Given the description of an element on the screen output the (x, y) to click on. 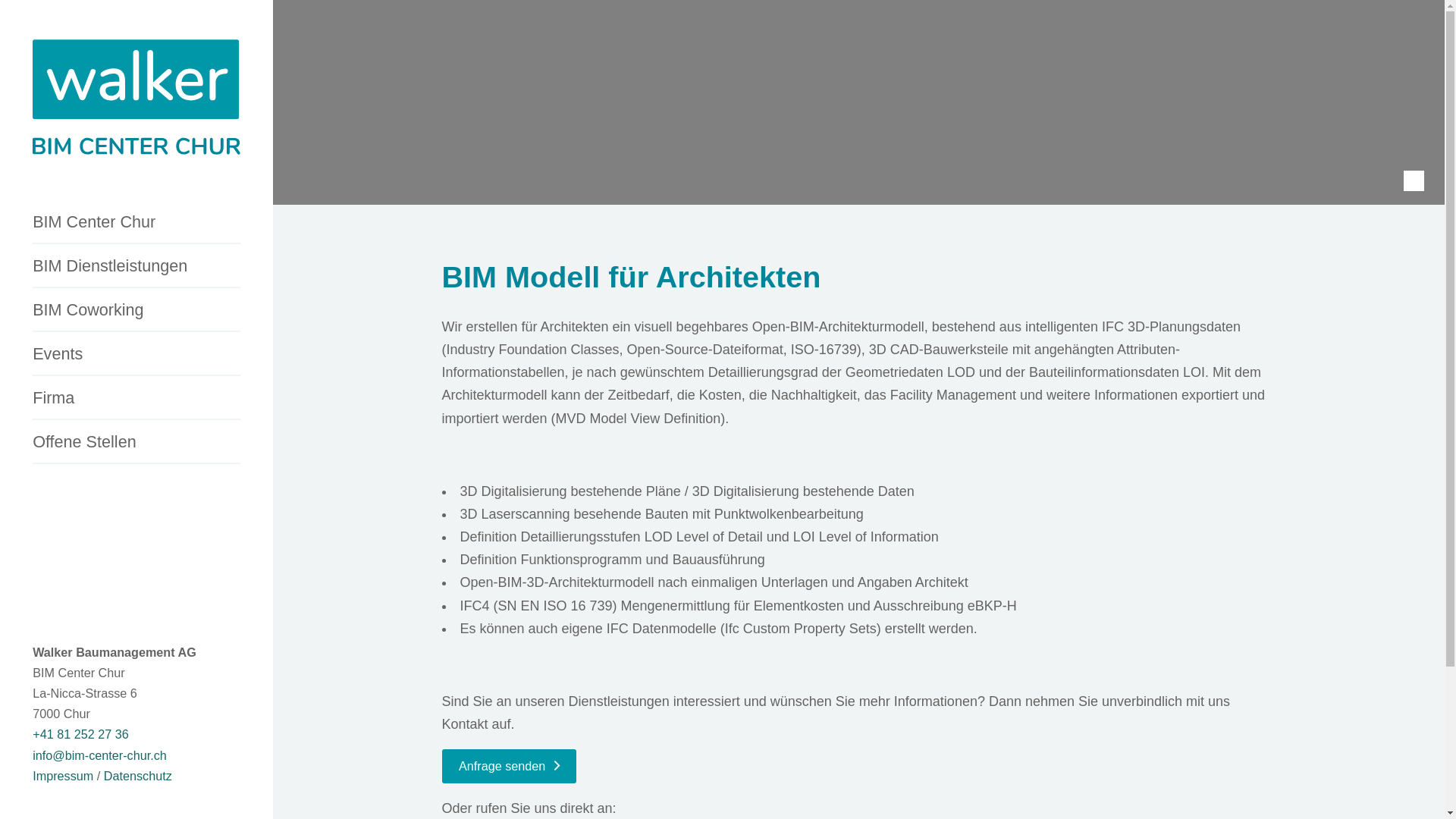
Impressum Element type: text (62, 775)
Anfrage senden Element type: text (508, 766)
Firma Element type: text (136, 398)
BIM Coworking Element type: text (136, 310)
+41 81 252 27 36 Element type: text (80, 733)
Events Element type: text (136, 354)
BIM Dienstleistungen Element type: text (136, 266)
BIM Center Chur Element type: text (136, 222)
Offene Stellen Element type: text (136, 442)
zur Startseite Element type: hover (136, 100)
Datenschutz Element type: text (137, 775)
info@bim-center-chur.ch Element type: text (99, 755)
